Given the description of an element on the screen output the (x, y) to click on. 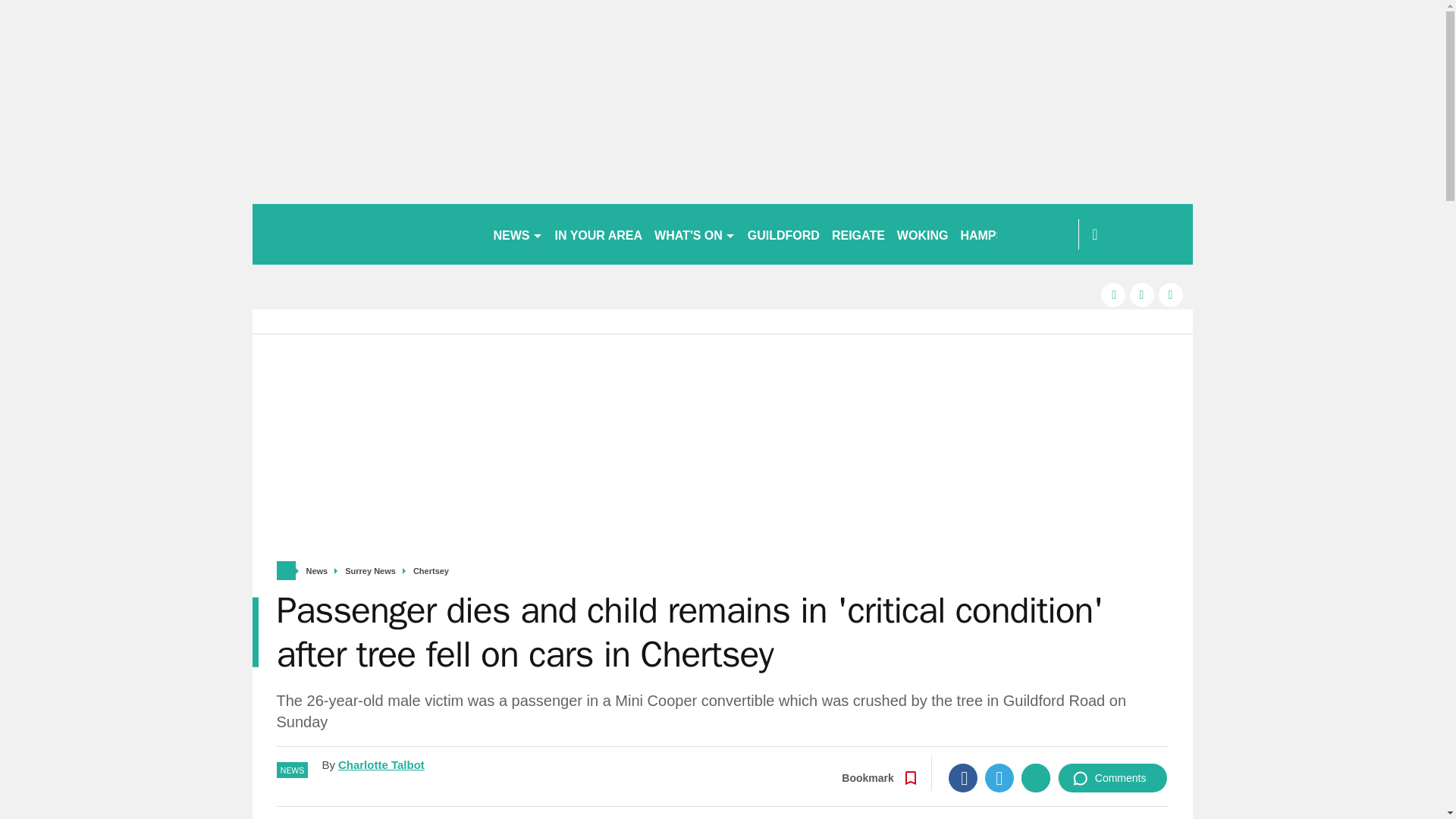
Twitter (999, 777)
GUILDFORD (783, 233)
HAMPSHIRE (996, 233)
facebook (1112, 294)
WOKING (923, 233)
IN YOUR AREA (598, 233)
twitter (1141, 294)
Comments (1112, 777)
NEWS (517, 233)
REIGATE (858, 233)
getsurrey (365, 233)
Facebook (962, 777)
instagram (1170, 294)
WHAT'S ON (694, 233)
